Given the description of an element on the screen output the (x, y) to click on. 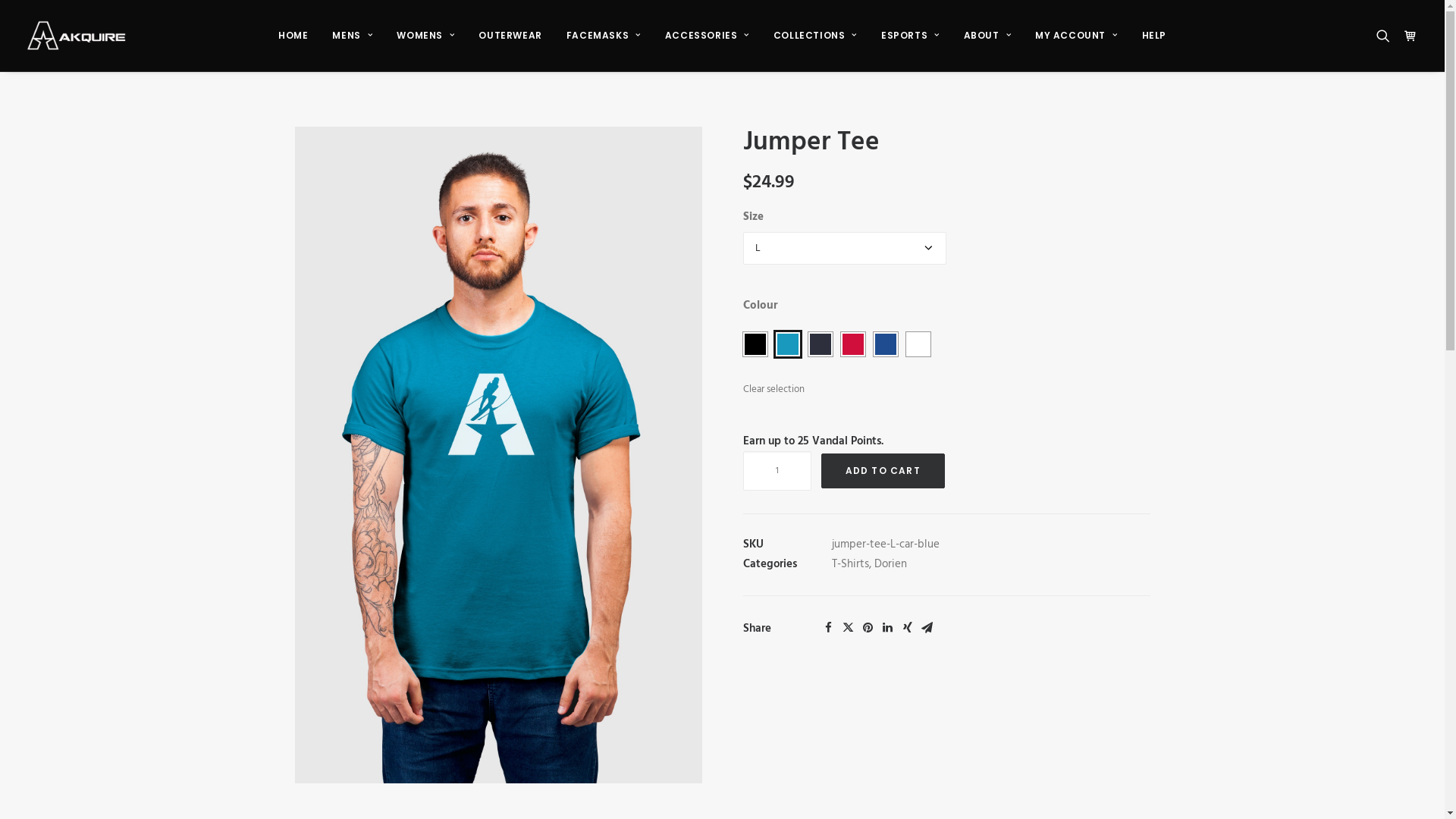
FACEMASKS Element type: text (603, 35)
ESPORTS Element type: text (910, 35)
OUTERWEAR Element type: text (509, 35)
ACCESSORIES Element type: text (706, 35)
cart Element type: hover (1407, 35)
MENS Element type: text (351, 35)
Royal Blue Element type: hover (885, 344)
ADD TO CART Element type: text (882, 470)
ABOUT Element type: text (987, 35)
HELP Element type: text (1153, 35)
White Element type: hover (917, 344)
Dorien Element type: text (889, 564)
HOME Element type: text (292, 35)
WOMENS Element type: text (424, 35)
Caribbean Blue Element type: hover (787, 344)
Navy Element type: hover (820, 344)
Red Element type: hover (852, 344)
MY ACCOUNT Element type: text (1075, 35)
COLLECTIONS Element type: text (814, 35)
Black Element type: hover (755, 344)
Clear selection Element type: text (773, 395)
jumperaquamodel Element type: hover (497, 454)
T-Shirts Element type: text (849, 564)
